Given the description of an element on the screen output the (x, y) to click on. 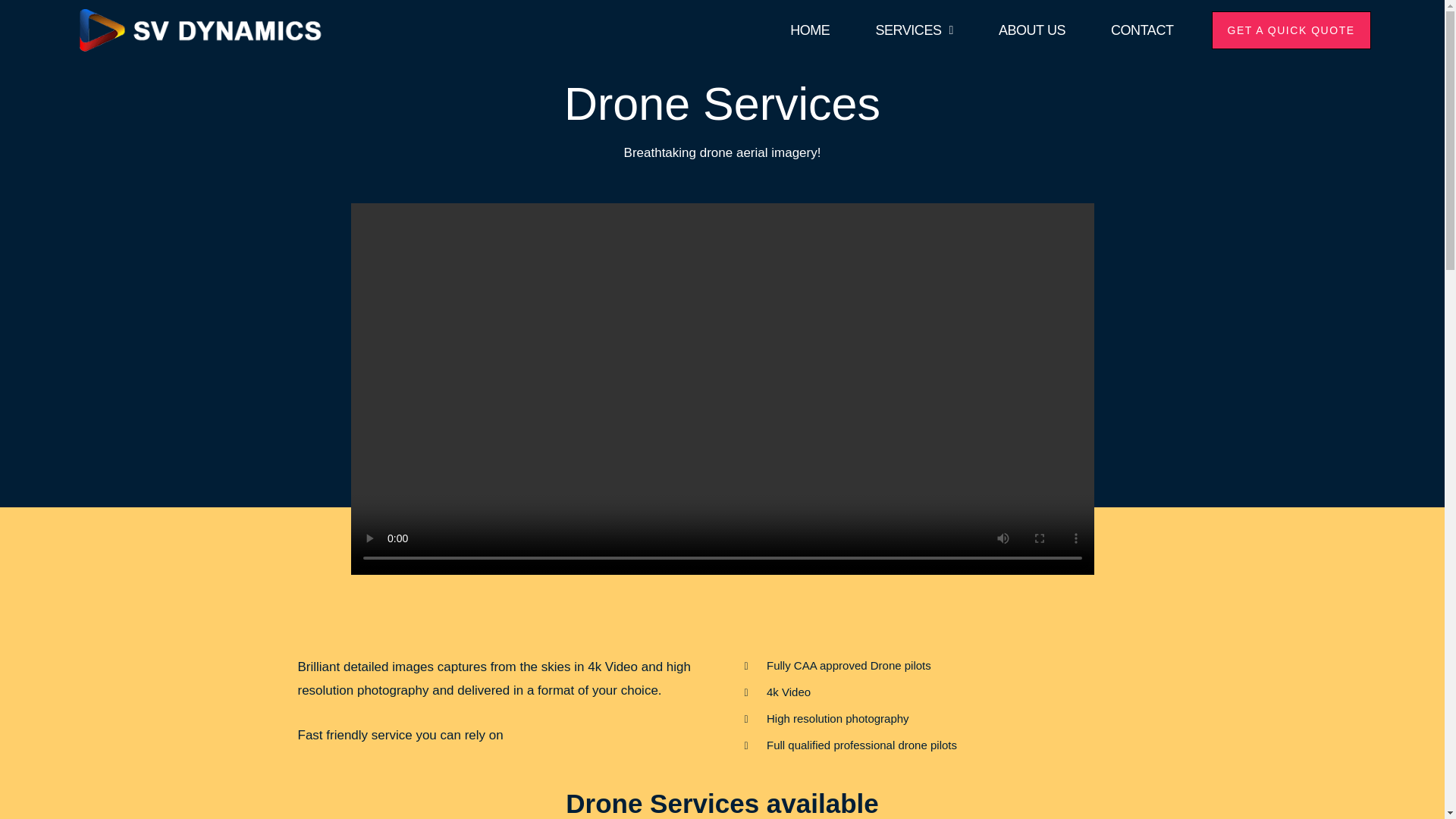
ABOUT US (1032, 30)
HOME (810, 30)
GET A QUICK QUOTE (1291, 30)
CONTACT (1141, 30)
SERVICES (913, 30)
